Given the description of an element on the screen output the (x, y) to click on. 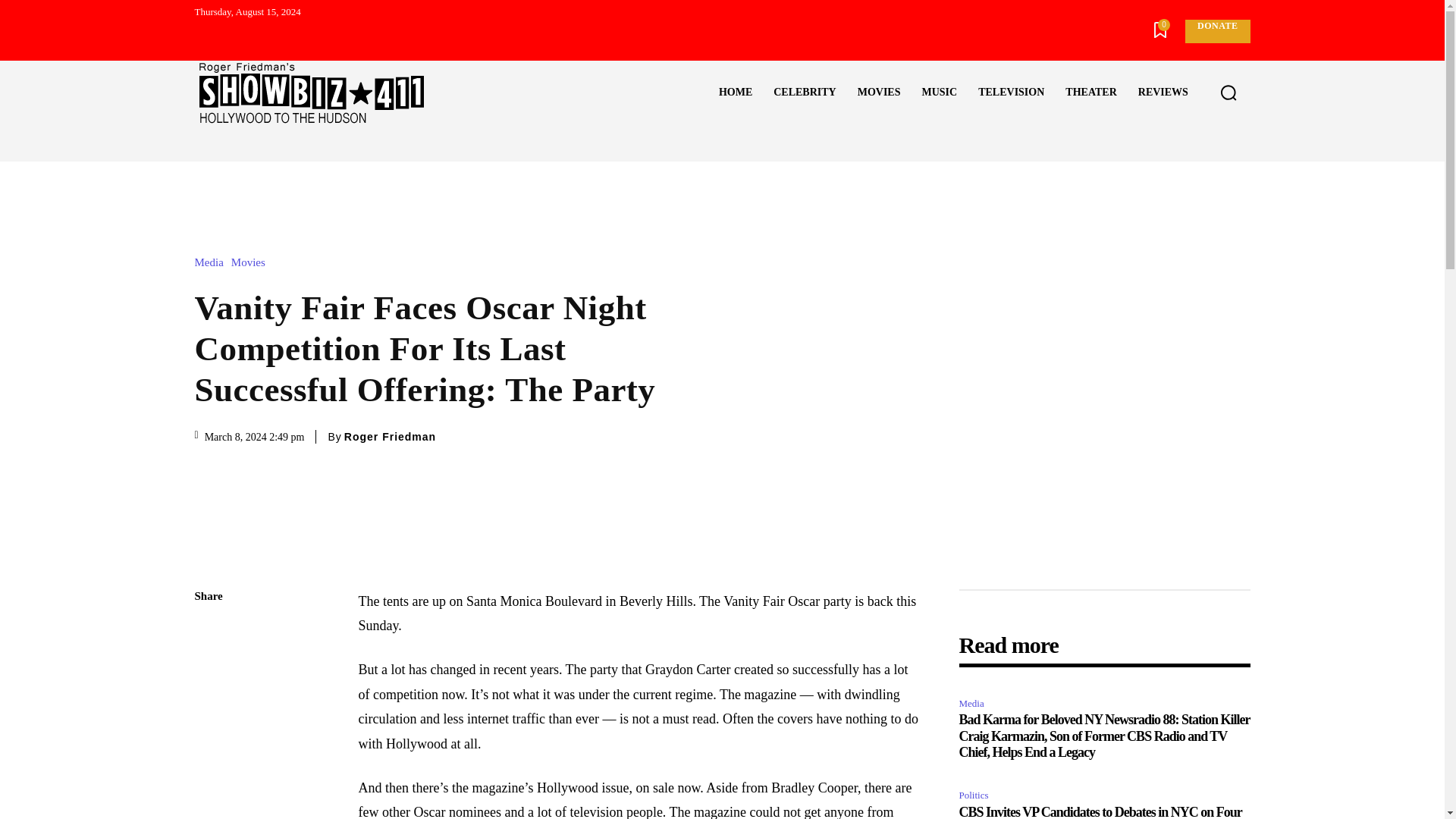
DONATE (1217, 31)
Donate (1217, 31)
THEATER (1090, 92)
MUSIC (939, 92)
Media (211, 262)
MOVIES (879, 92)
REVIEWS (1162, 92)
TELEVISION (1011, 92)
HOME (734, 92)
CELEBRITY (803, 92)
